Given the description of an element on the screen output the (x, y) to click on. 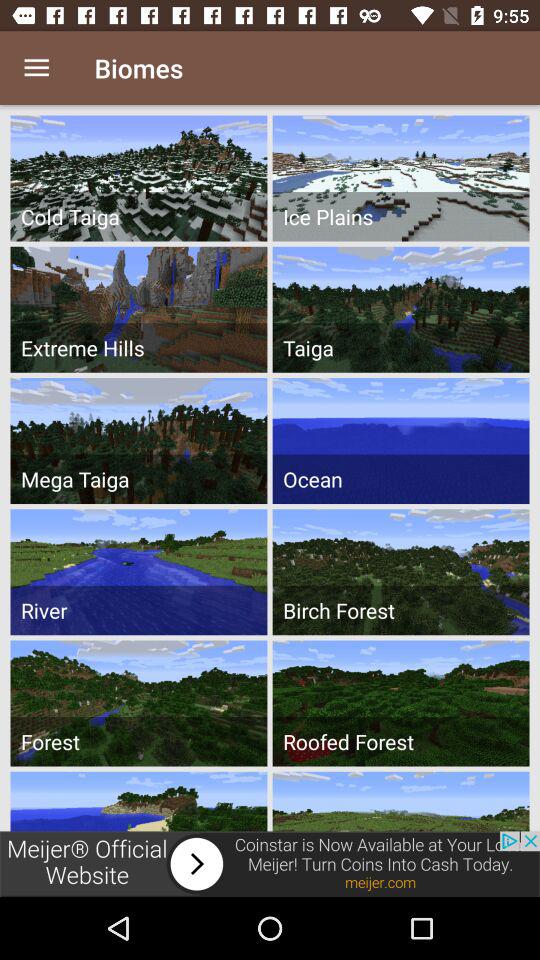
visit advertised website (270, 864)
